Given the description of an element on the screen output the (x, y) to click on. 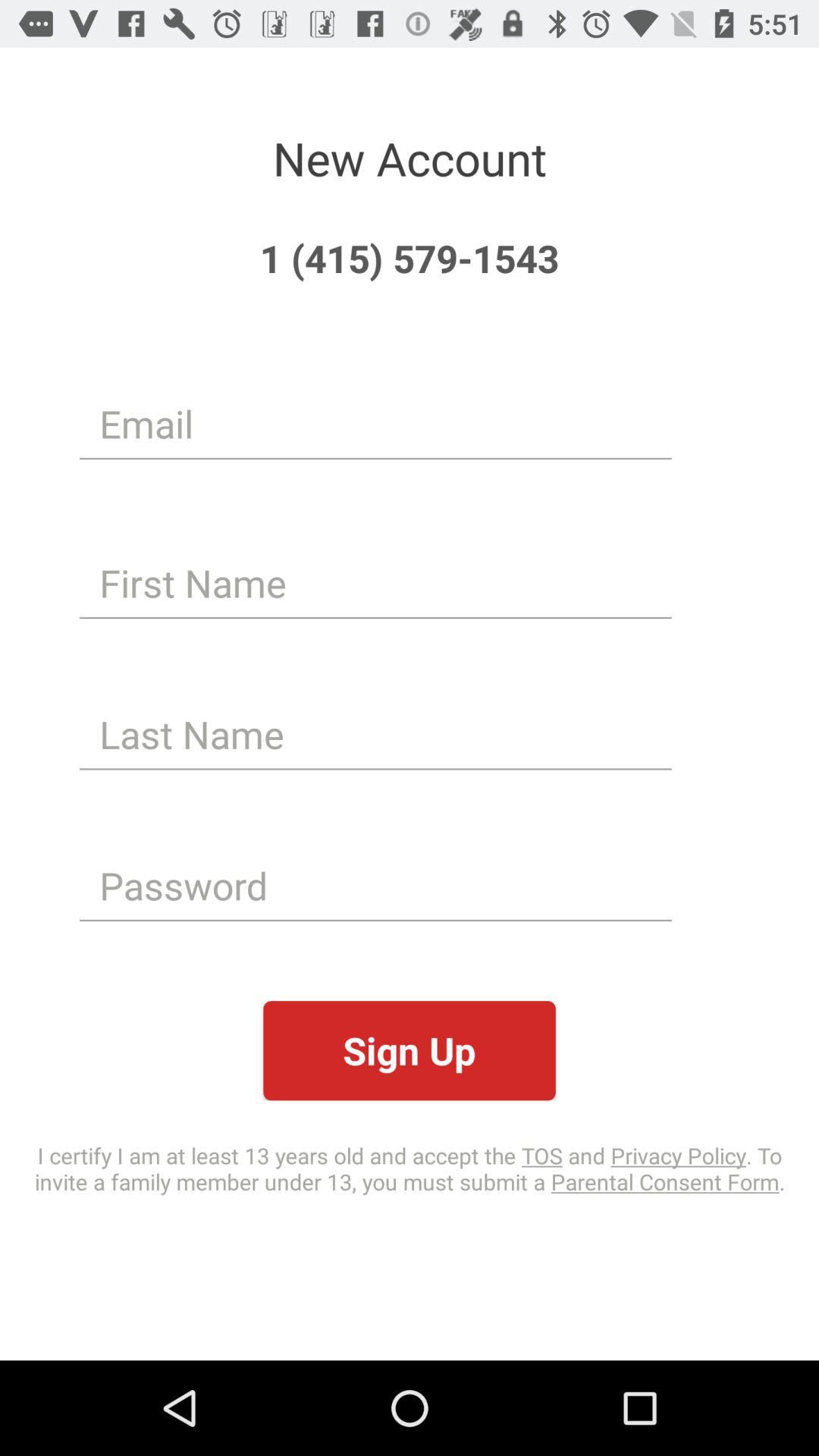
turn off i certify i item (409, 1168)
